Given the description of an element on the screen output the (x, y) to click on. 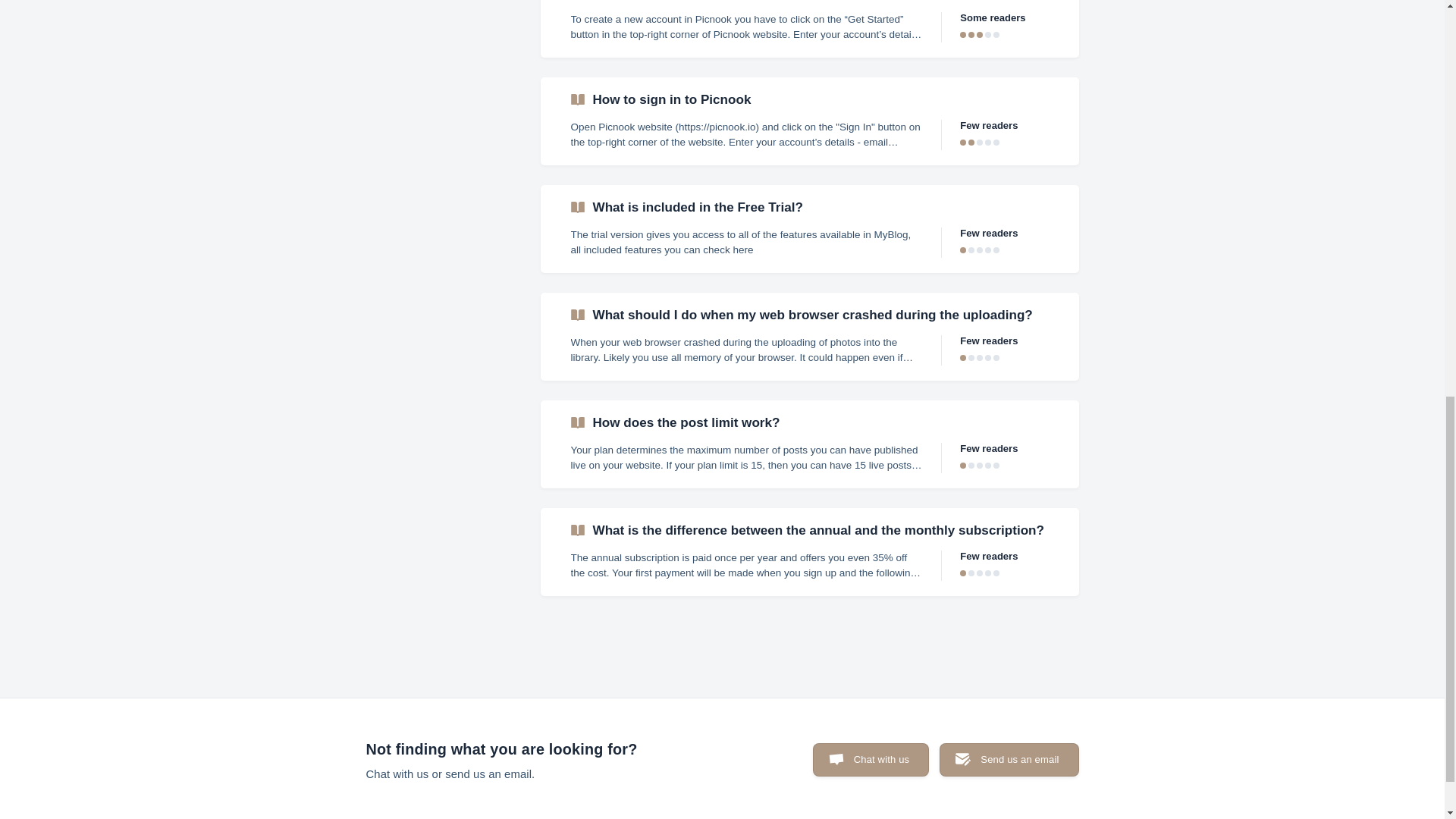
Send us an email (1008, 759)
Chat with us (871, 759)
